Given the description of an element on the screen output the (x, y) to click on. 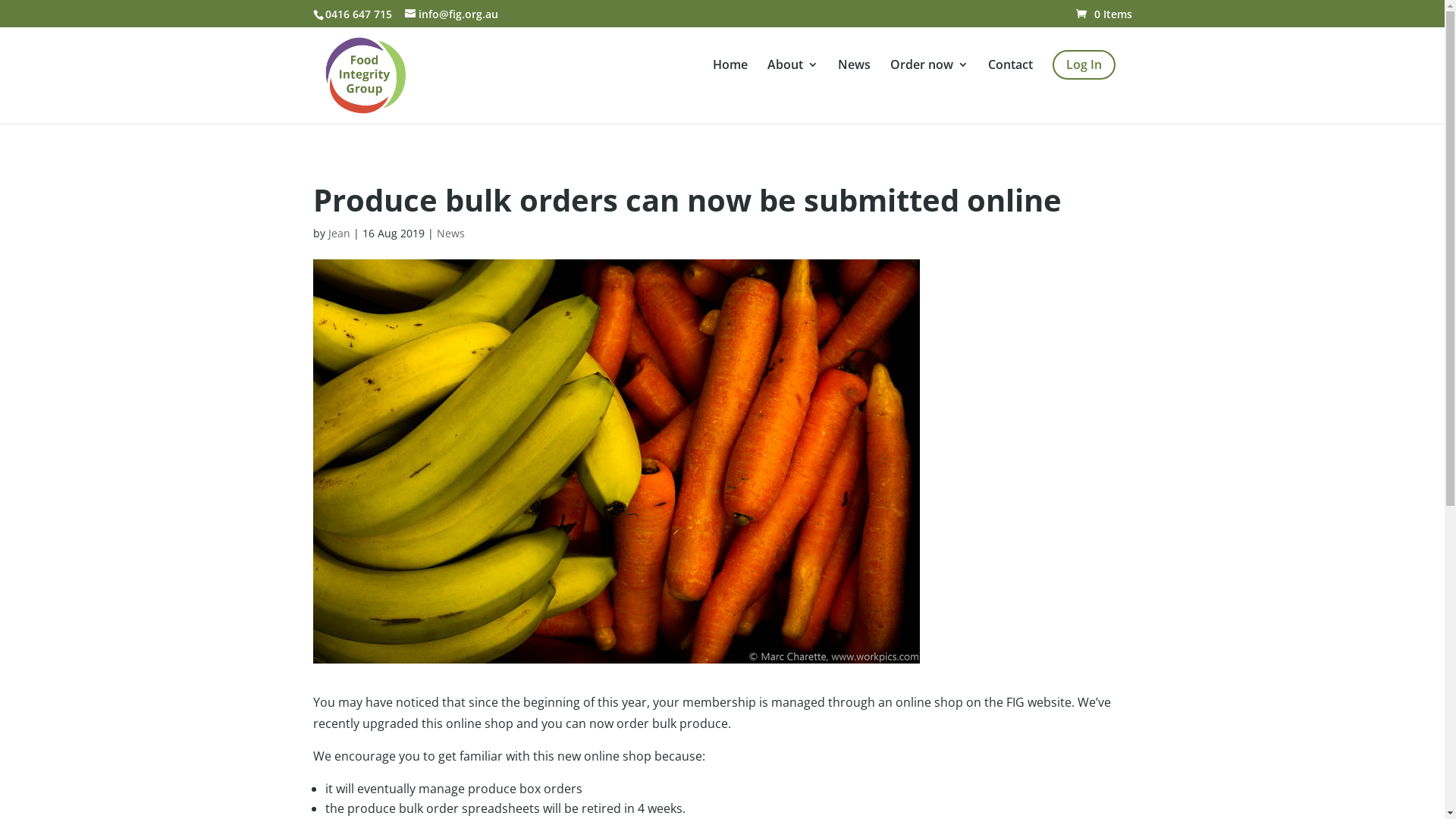
Order now Element type: text (929, 75)
0 Items Element type: text (1103, 13)
Jean Element type: text (338, 232)
info@fig.org.au Element type: text (451, 13)
Skip to content Element type: text (0, 0)
0416 647 715 Element type: text (356, 13)
Log In Element type: text (1083, 64)
Contact Element type: text (1009, 75)
News Element type: text (450, 232)
Home Element type: text (729, 75)
About Element type: text (792, 75)
News Element type: text (853, 75)
